Given the description of an element on the screen output the (x, y) to click on. 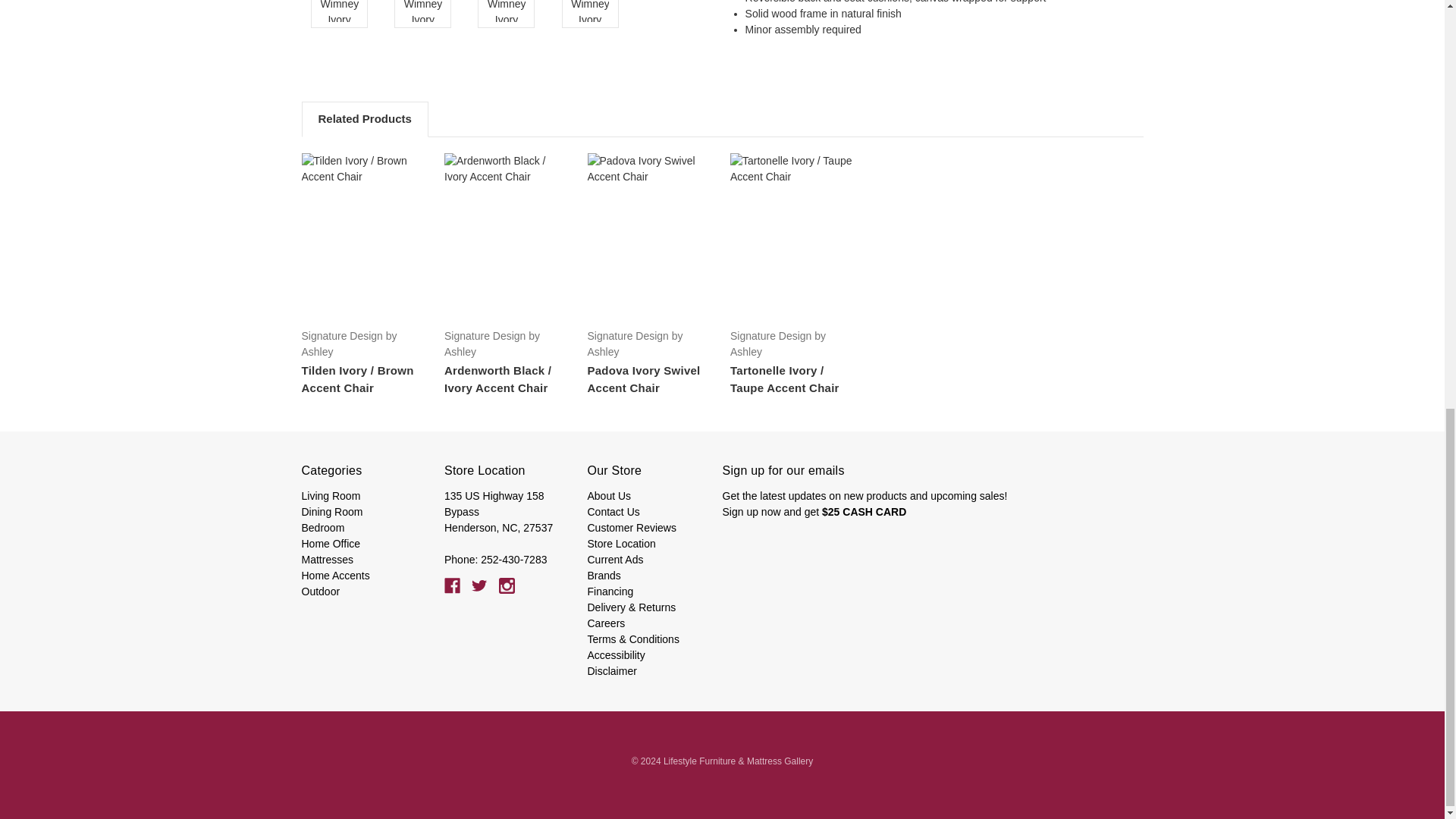
Wimney Ivory Accent Chair (423, 11)
Wimney Ivory Accent Chair (589, 11)
Wimney Ivory Accent Chair (339, 11)
Wimney Ivory Accent Chair (506, 11)
